Given the description of an element on the screen output the (x, y) to click on. 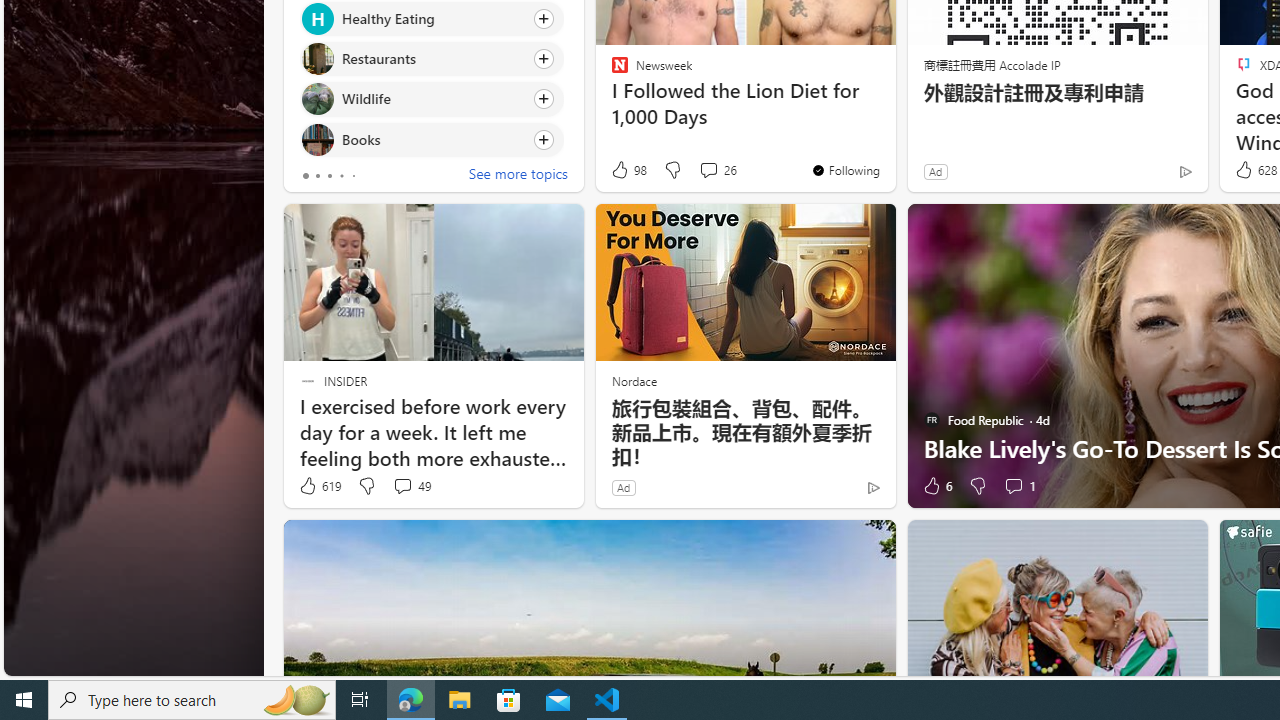
You're following Newsweek (845, 169)
tab-1 (317, 175)
Click to follow topic Wildlife (431, 99)
tab-2 (328, 175)
Click to follow topic Books (431, 138)
98 Like (628, 170)
Click to follow topic Restaurants (431, 59)
View comments 49 Comment (411, 485)
tab-0 (305, 175)
